Given the description of an element on the screen output the (x, y) to click on. 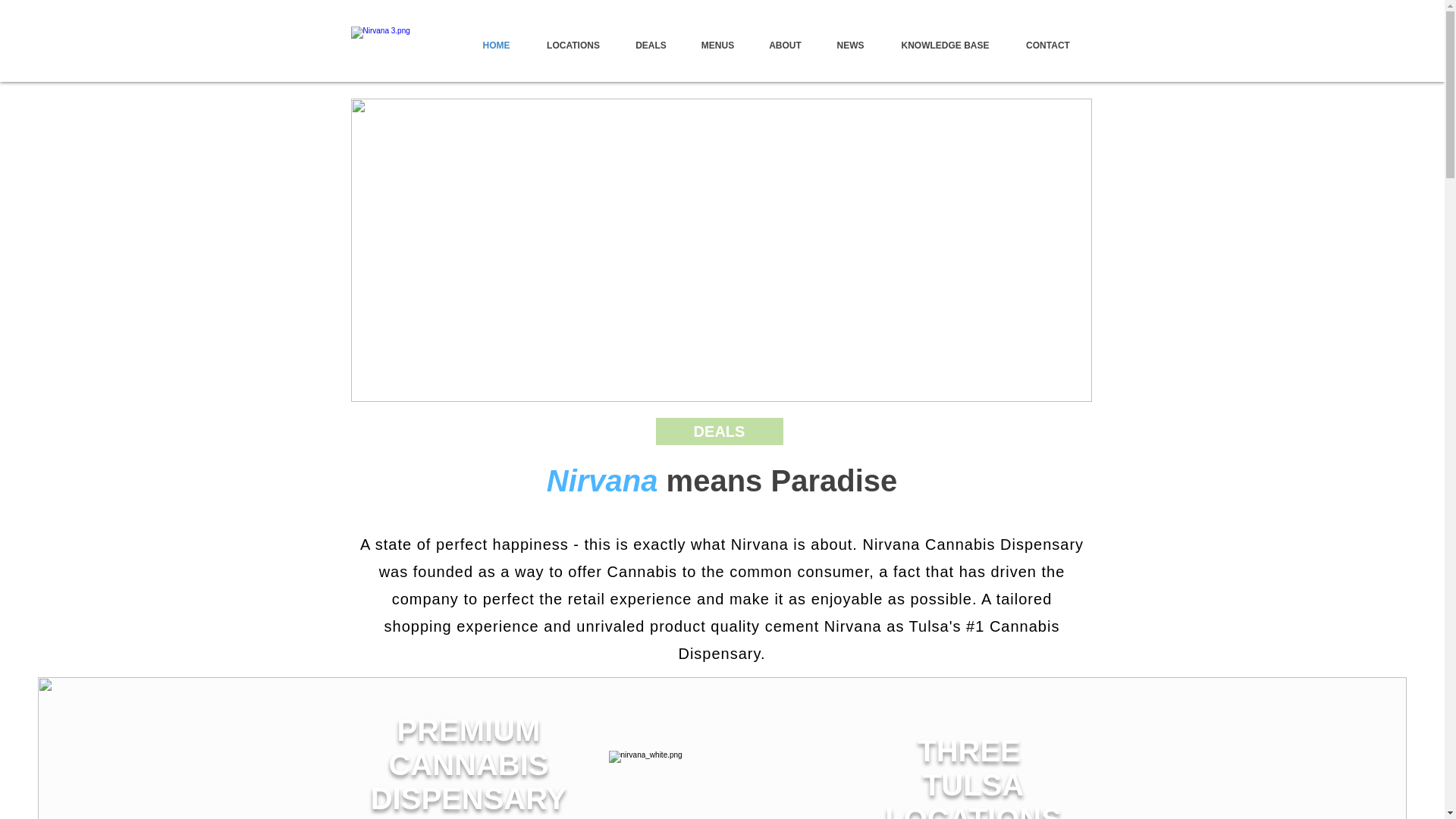
CONTACT (1048, 45)
THREE  TULSA  LOCATIONS (968, 776)
KNOWLEDGE BASE (945, 45)
NEWS (850, 45)
DEALS (718, 431)
ABOUT (785, 45)
LOCATIONS (572, 45)
HOME (495, 45)
DEALS (651, 45)
